Given the description of an element on the screen output the (x, y) to click on. 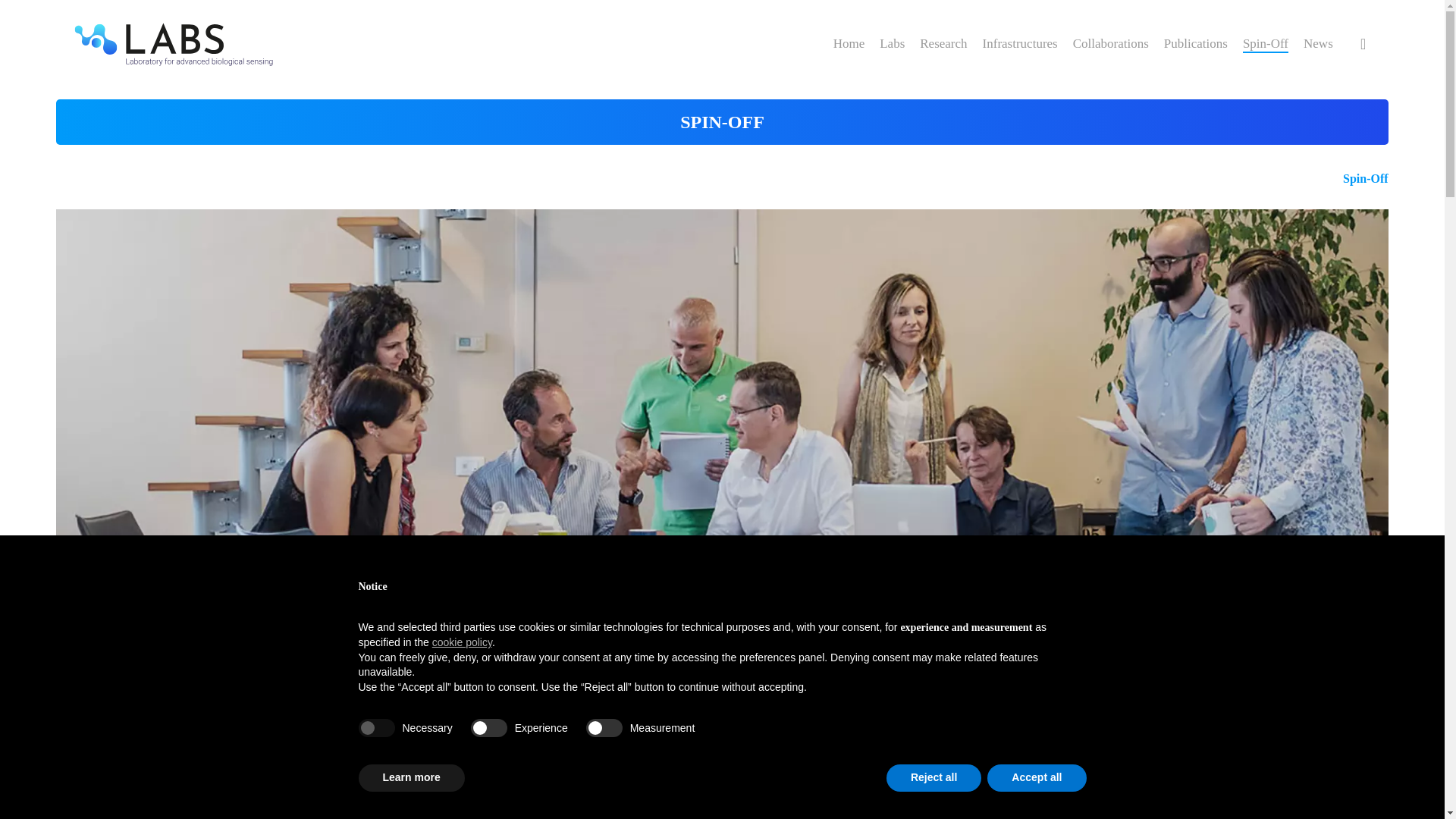
false (604, 728)
false (488, 728)
Research (943, 44)
Publications (1195, 44)
Labs (891, 44)
search (1363, 44)
Home (848, 44)
News (1318, 44)
true (376, 728)
Collaborations (1110, 44)
